Given the description of an element on the screen output the (x, y) to click on. 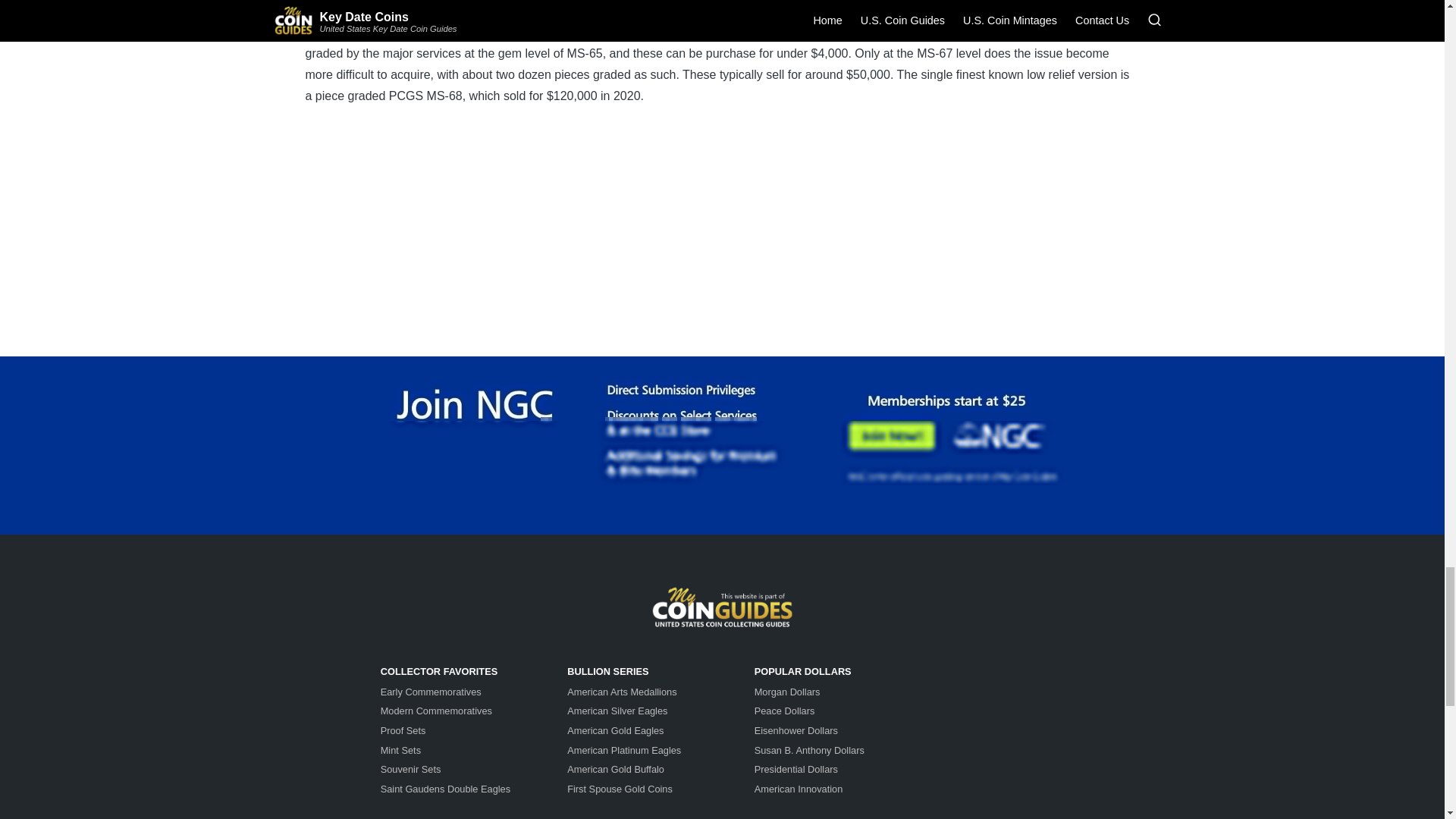
First Spouse Gold Coins (619, 788)
American Gold Buffalo (615, 768)
Early Commemoratives (430, 691)
Morgan Dollars (787, 691)
Mint Sets (400, 749)
Peace Dollars (784, 710)
Souvenir Sets (410, 768)
Saint Gaudens Double Eagles (445, 788)
Susan B. Anthony Dollars (809, 749)
Proof Sets (403, 730)
